Given the description of an element on the screen output the (x, y) to click on. 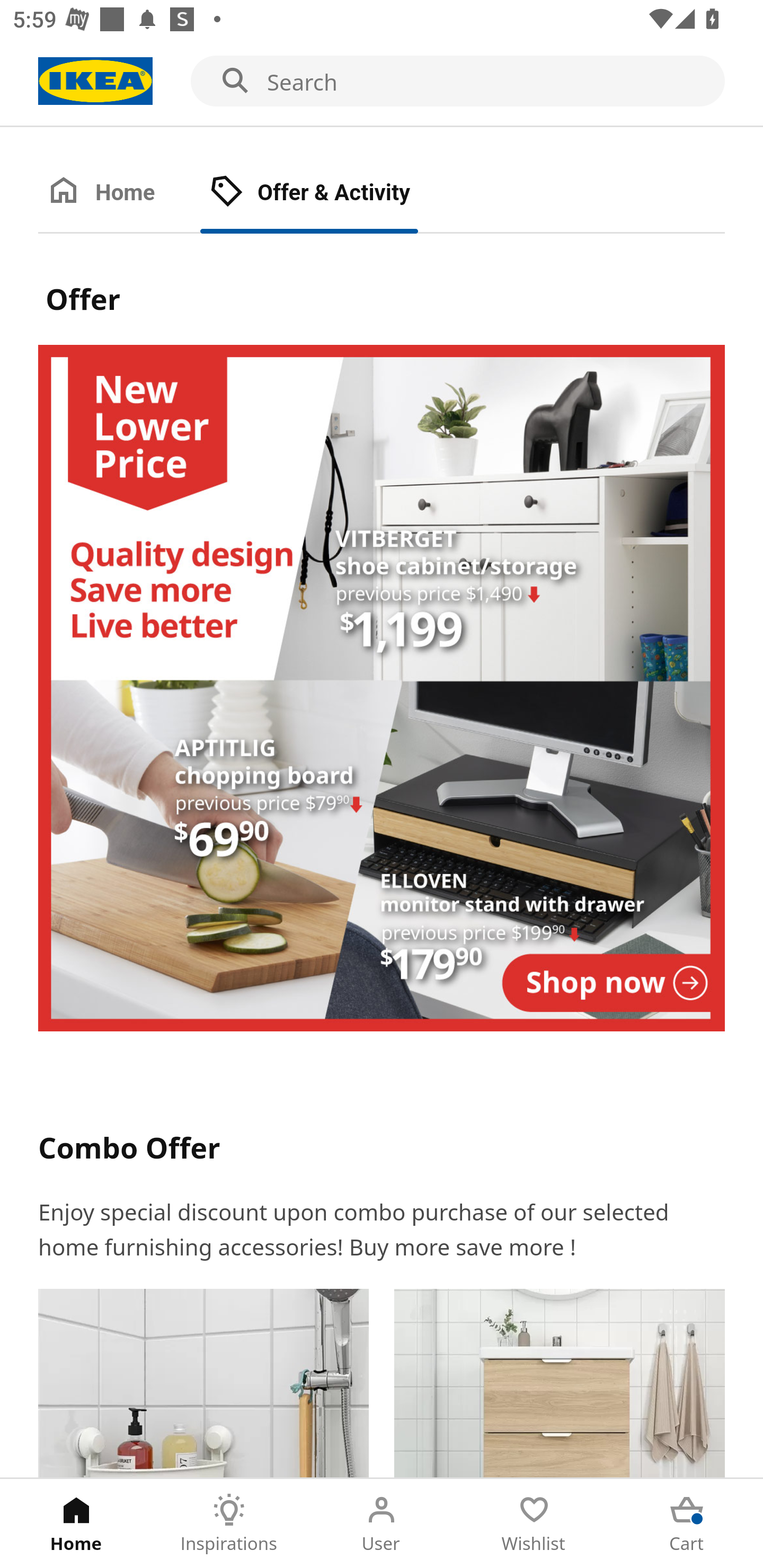
Search (381, 81)
Home
Tab 1 of 2 (118, 192)
Offer & Activity
Tab 2 of 2 (327, 192)
Home
Tab 1 of 5 (76, 1522)
Inspirations
Tab 2 of 5 (228, 1522)
User
Tab 3 of 5 (381, 1522)
Wishlist
Tab 4 of 5 (533, 1522)
Cart
Tab 5 of 5 (686, 1522)
